Given the description of an element on the screen output the (x, y) to click on. 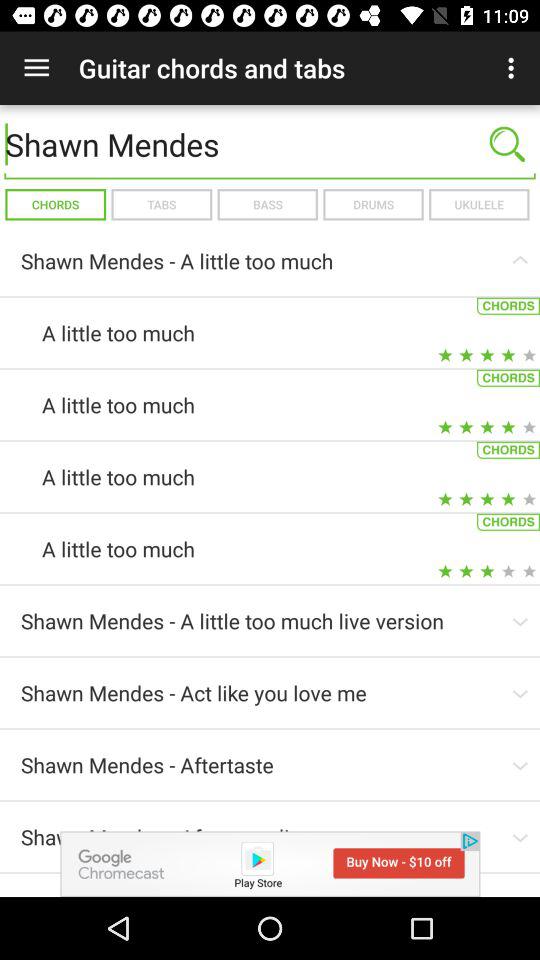
open the item above the shawn mendes a item (373, 204)
